Given the description of an element on the screen output the (x, y) to click on. 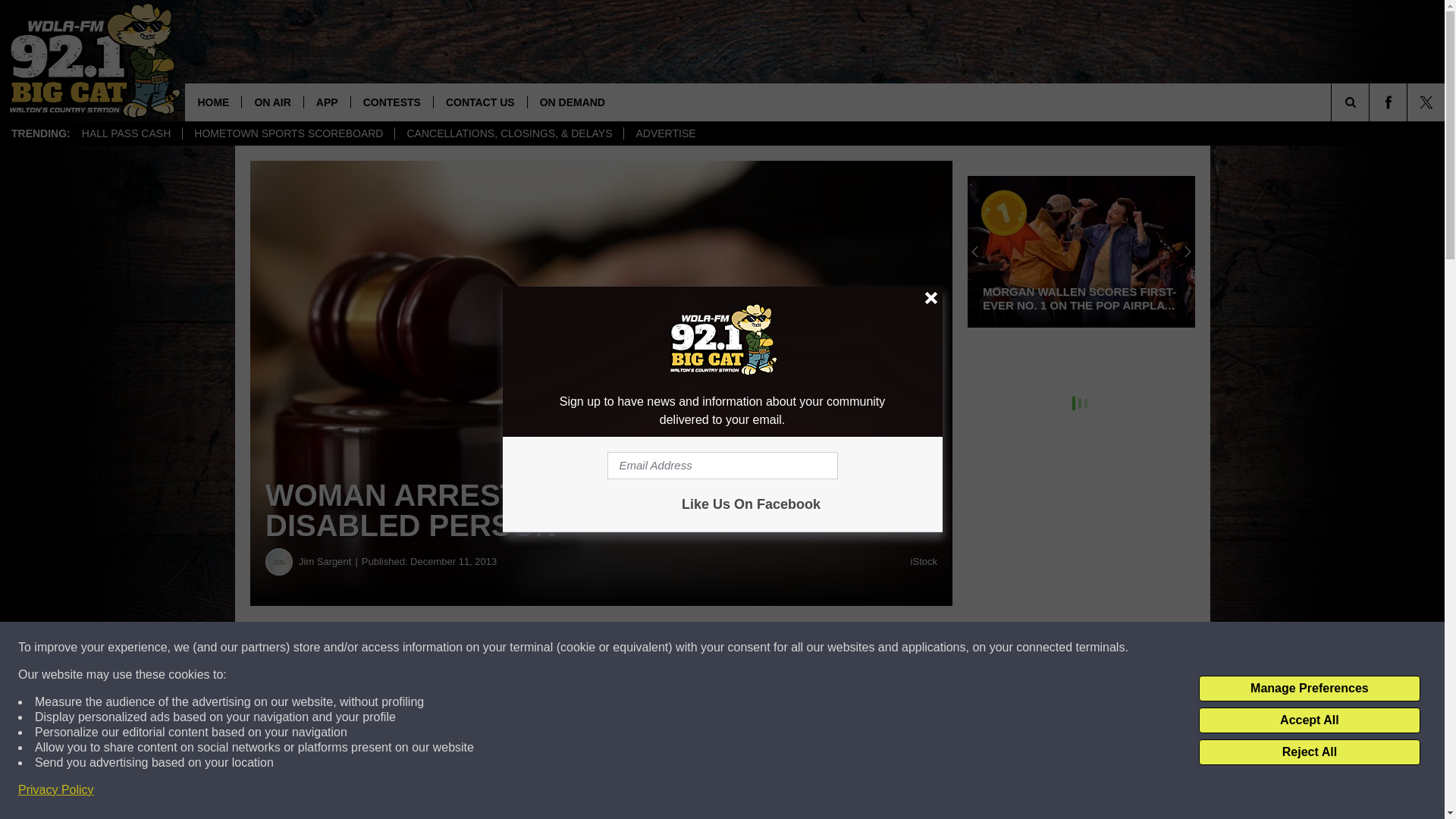
SEARCH (1371, 102)
Share on Twitter (741, 647)
APP (326, 102)
ON AIR (271, 102)
CONTACT US (479, 102)
SEARCH (1371, 102)
Privacy Policy (55, 789)
ADVERTISE (664, 133)
HOMETOWN SPORTS SCOREBOARD (288, 133)
HALL PASS CASH (126, 133)
Accept All (1309, 720)
Share on Facebook (460, 647)
ON DEMAND (572, 102)
HOME (212, 102)
Reject All (1309, 751)
